Given the description of an element on the screen output the (x, y) to click on. 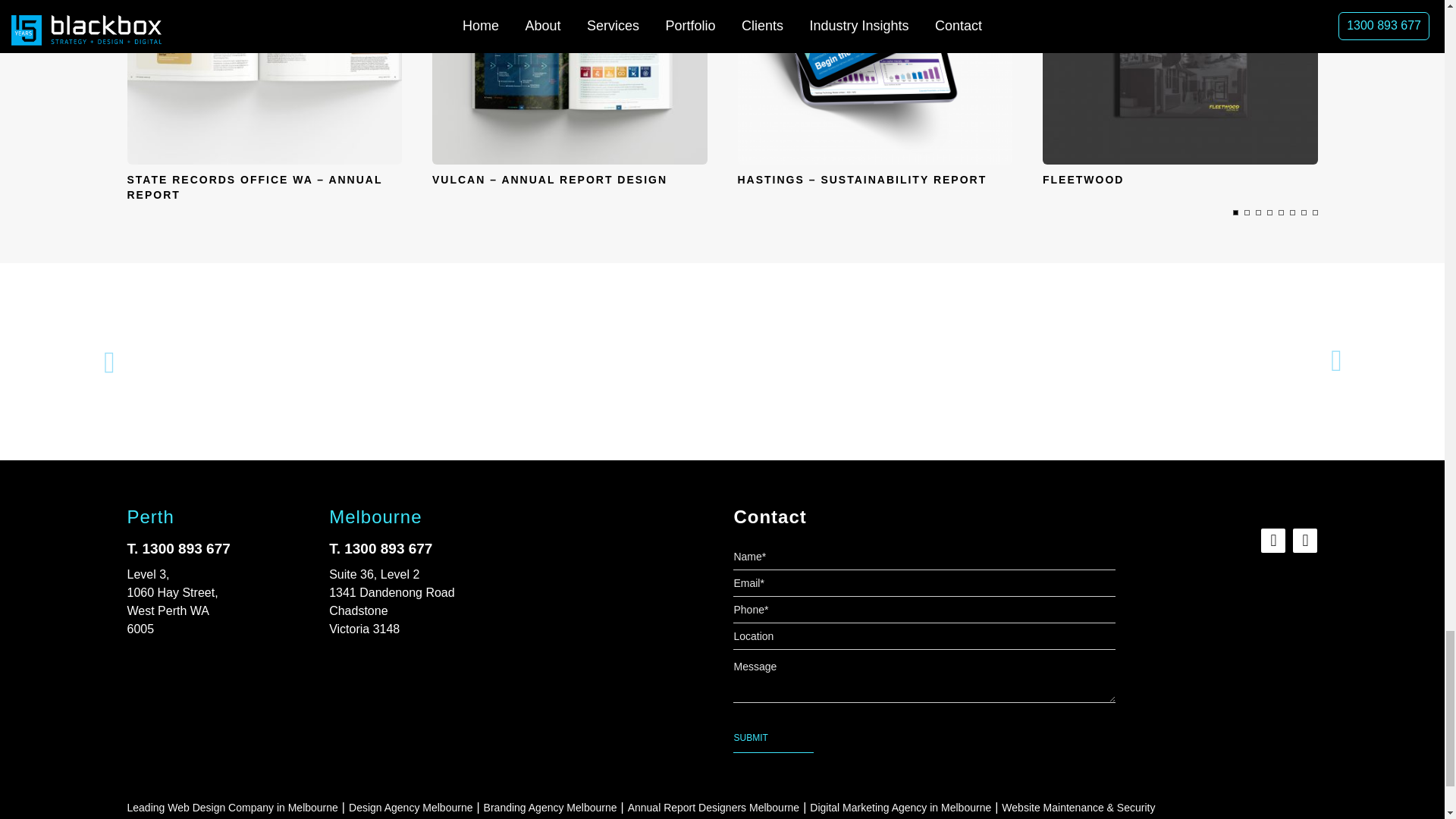
Submit (772, 737)
